Given the description of an element on the screen output the (x, y) to click on. 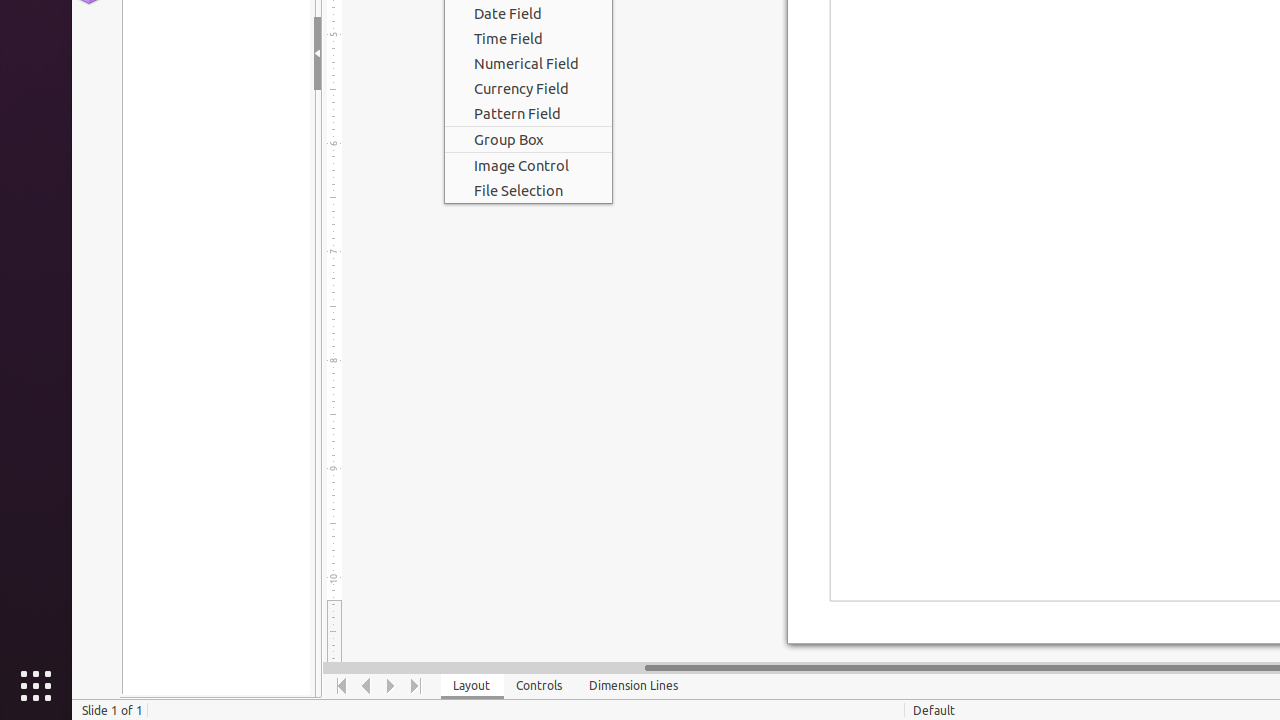
Group Box Element type: check-menu-item (528, 139)
File Selection Element type: check-menu-item (528, 190)
Date Field Element type: check-menu-item (528, 13)
Move To End Element type: push-button (416, 686)
Image Control Element type: check-menu-item (528, 165)
